Given the description of an element on the screen output the (x, y) to click on. 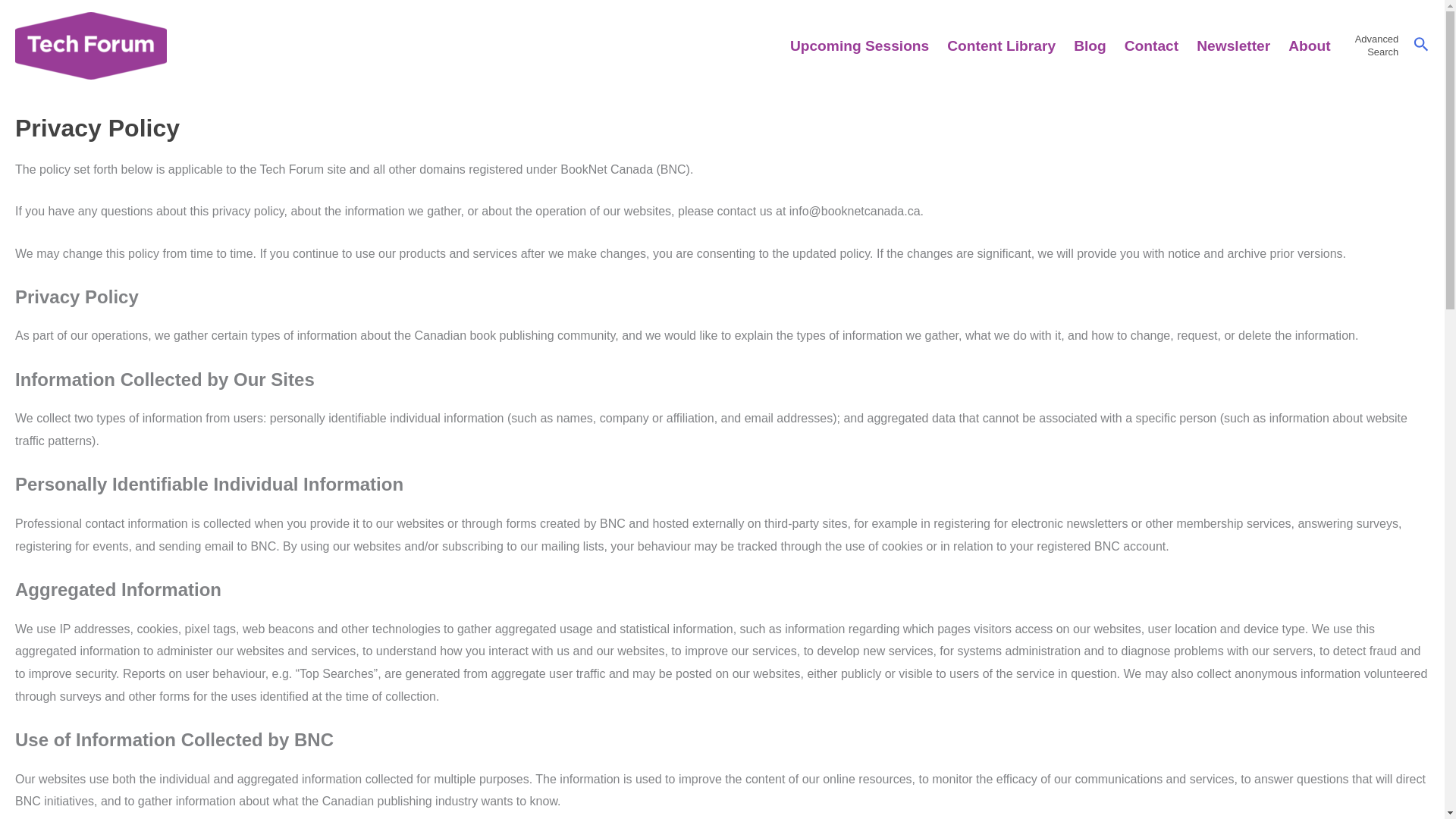
Content Library (1000, 45)
Blog (1089, 45)
About (1309, 45)
Upcoming Sessions (1377, 45)
Newsletter (858, 45)
Contact (1233, 45)
